Given the description of an element on the screen output the (x, y) to click on. 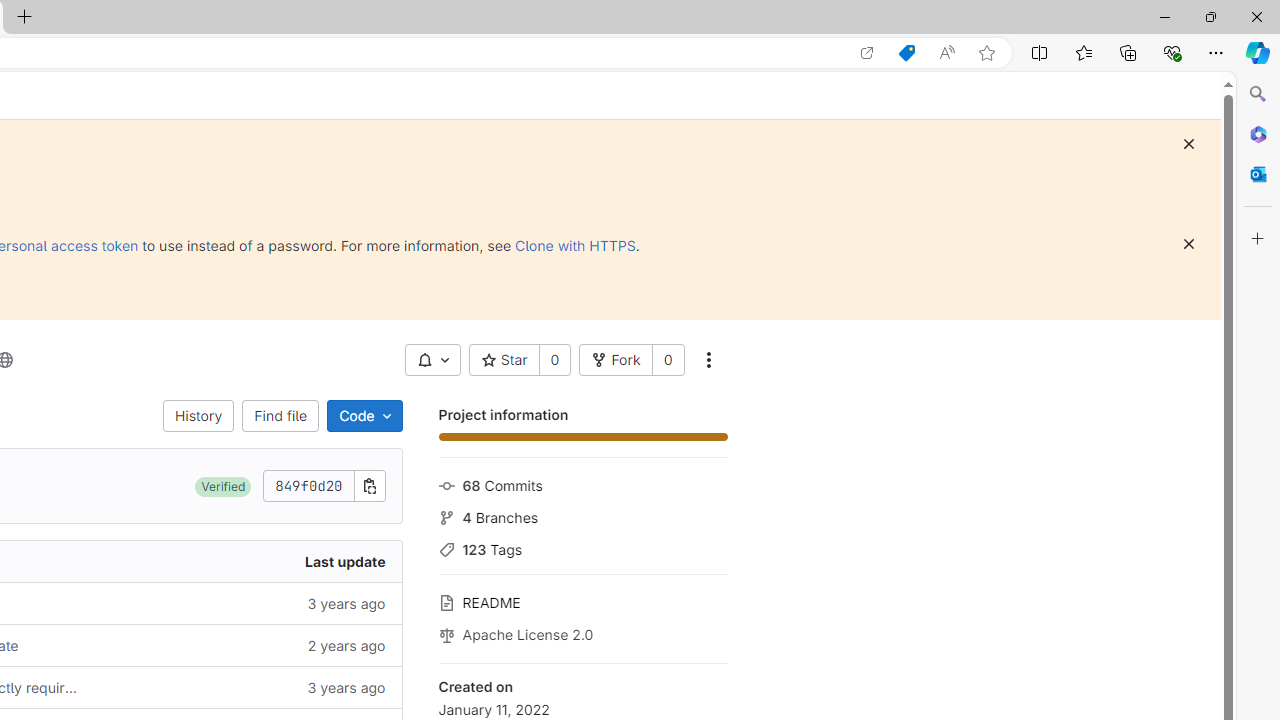
Fork (615, 359)
68 Commits (582, 484)
Apache License 2.0 (582, 633)
Open in app (867, 53)
Last update (247, 561)
2 years ago (247, 645)
0 (667, 359)
